Given the description of an element on the screen output the (x, y) to click on. 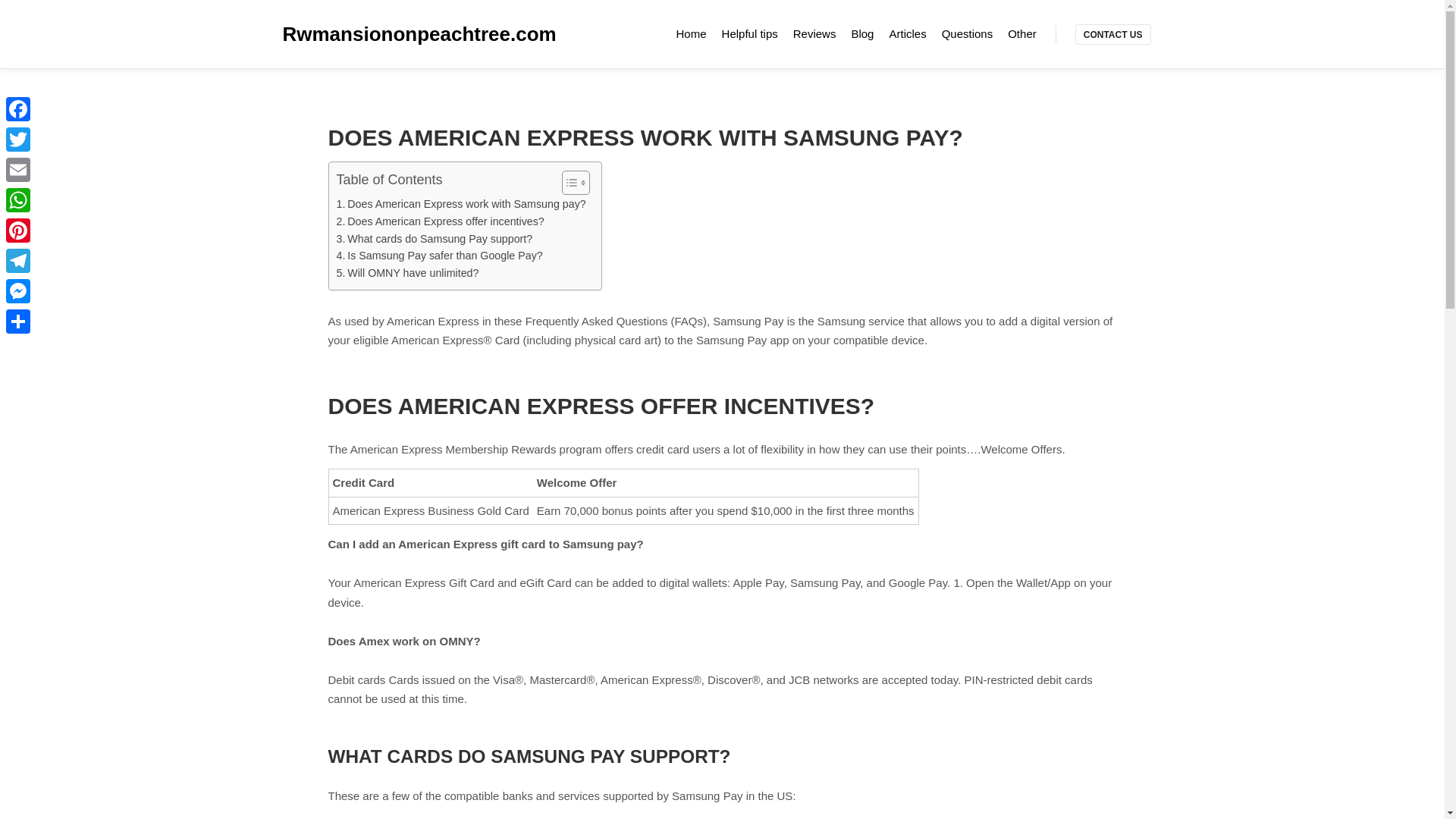
CONTACT US (1113, 34)
Messenger (17, 291)
Is Samsung Pay safer than Google Pay? (439, 255)
Facebook (17, 109)
Does American Express work with Samsung pay? (461, 203)
Pinterest (17, 230)
Is Samsung Pay safer than Google Pay? (439, 255)
Questions (967, 33)
What cards do Samsung Pay support? (434, 239)
Email (17, 169)
Rwmansiononpeachtree.com (357, 33)
What cards do Samsung Pay support? (434, 239)
WhatsApp (17, 200)
Does American Express offer incentives? (440, 221)
Facebook (17, 109)
